Given the description of an element on the screen output the (x, y) to click on. 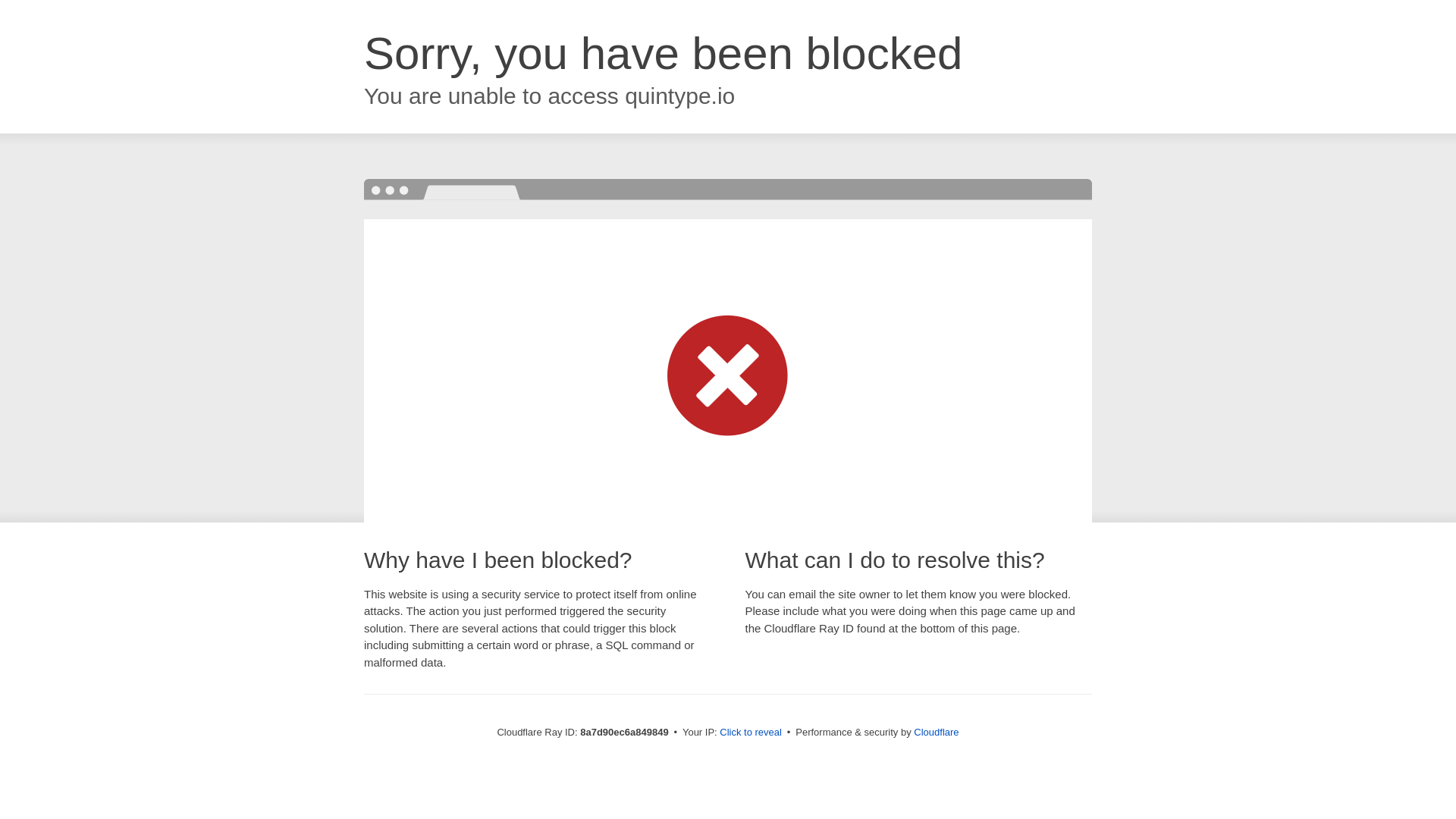
Cloudflare (936, 731)
Click to reveal (750, 732)
